Given the description of an element on the screen output the (x, y) to click on. 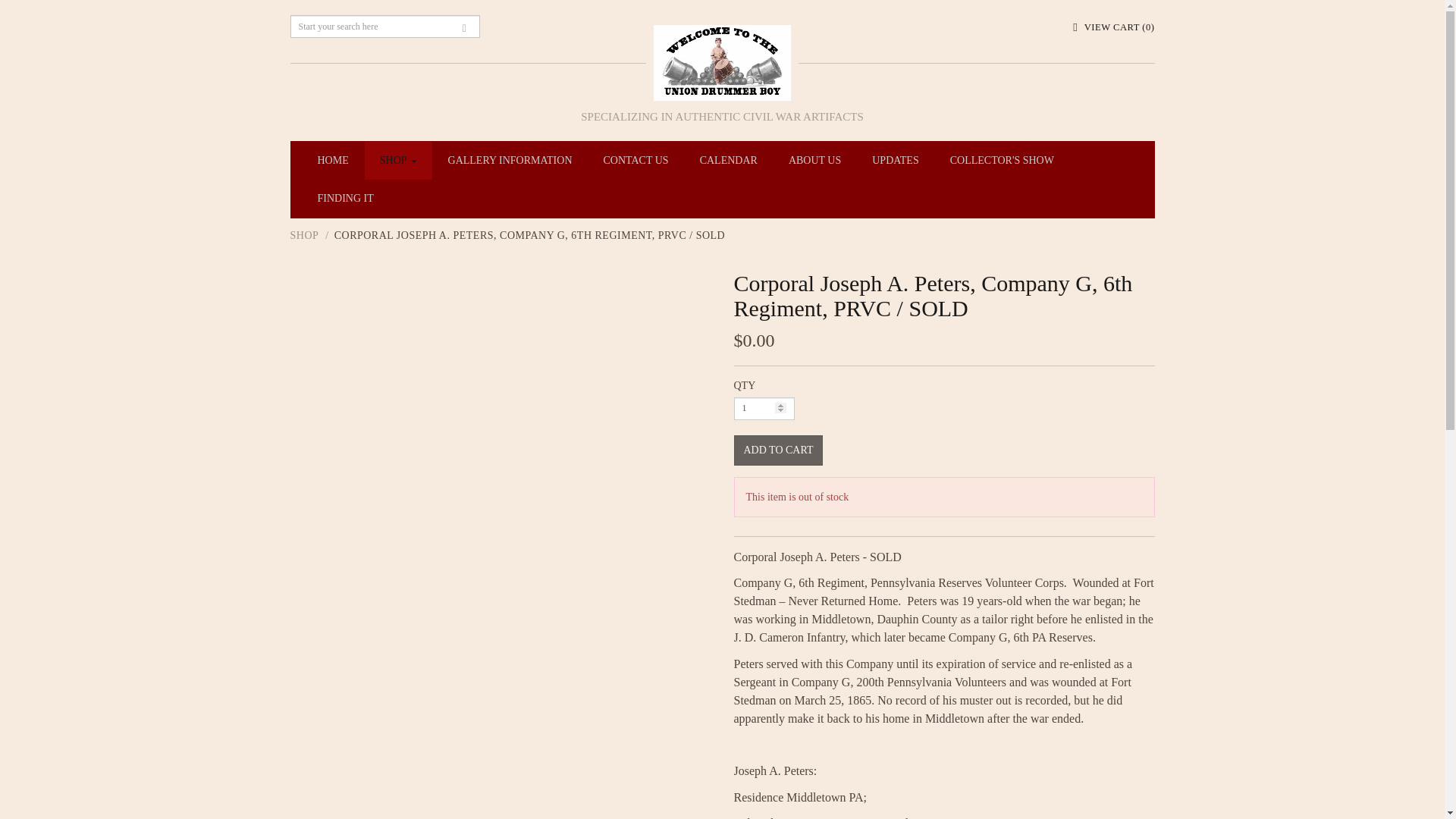
1 (763, 408)
SHOP (398, 160)
Add to Cart (778, 450)
HOME (331, 160)
